Given the description of an element on the screen output the (x, y) to click on. 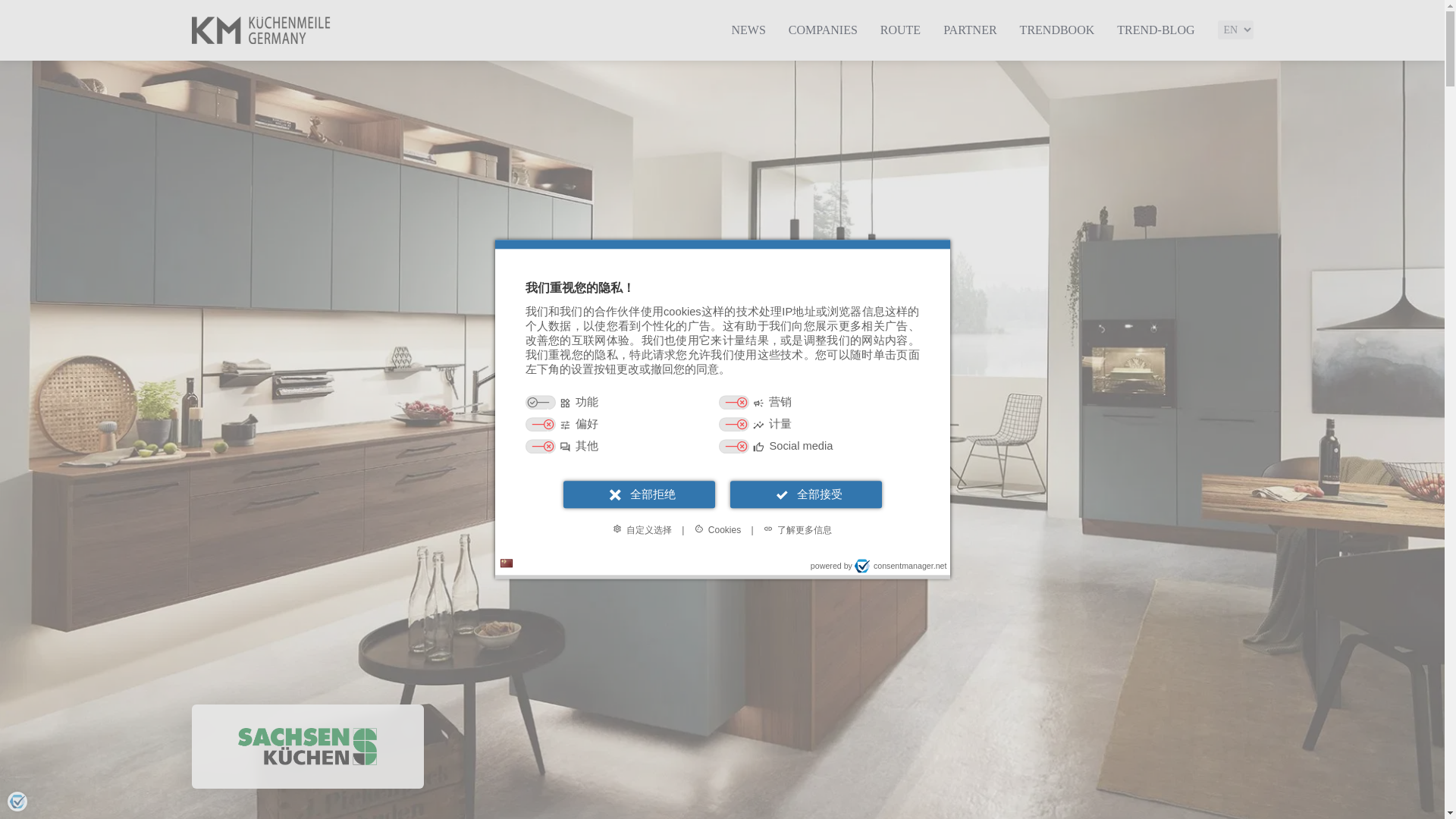
Language: zh (506, 563)
PARTNER (969, 30)
Cookies (717, 530)
consentmanager.net (900, 566)
TREND-BLOG (1154, 30)
TRENDBOOK (1057, 30)
ROUTE (900, 30)
Language: zh (506, 563)
COMPANIES (823, 30)
NEWS (747, 30)
